Given the description of an element on the screen output the (x, y) to click on. 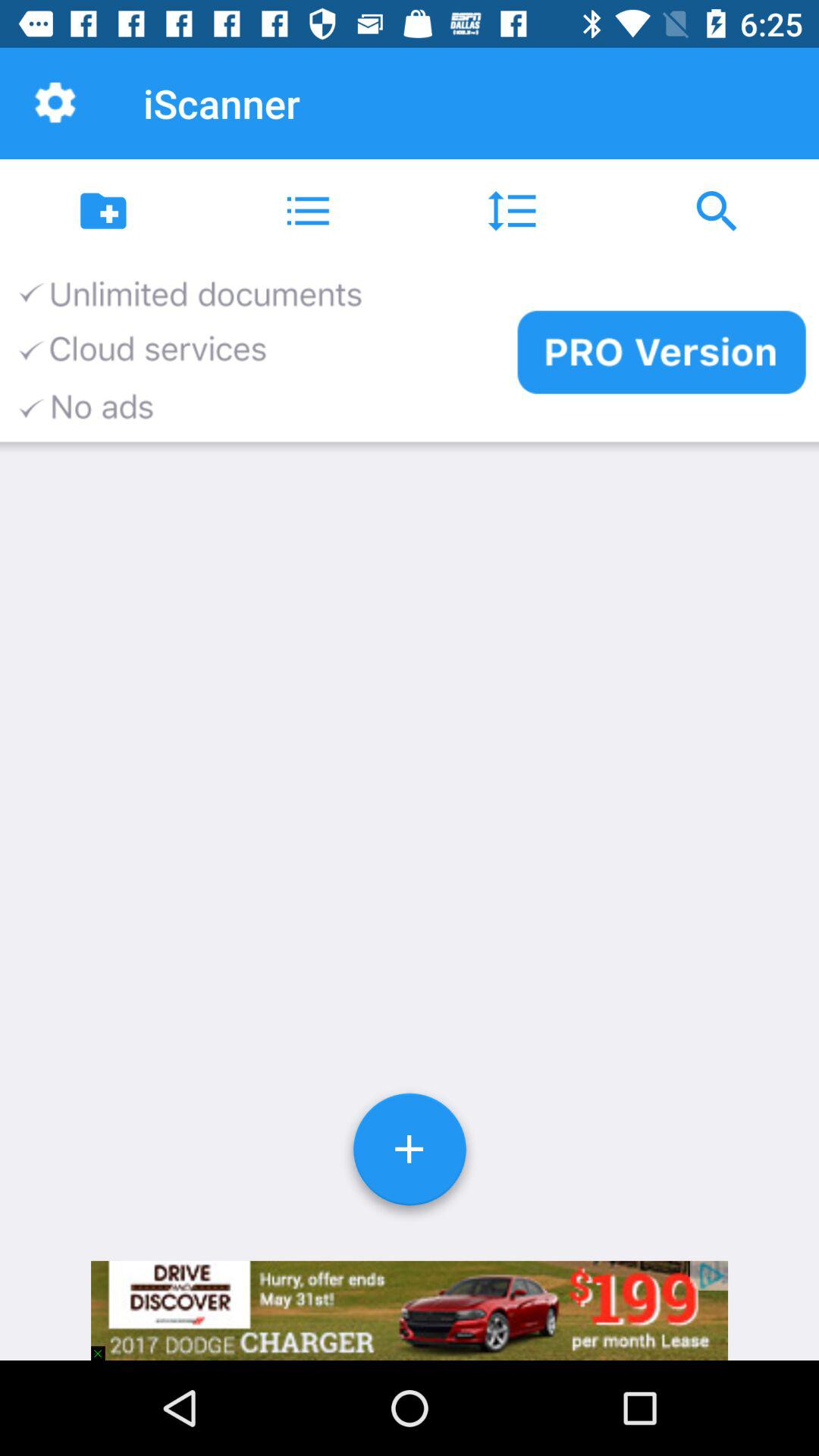
choose the item next to iscanner item (55, 103)
